Given the description of an element on the screen output the (x, y) to click on. 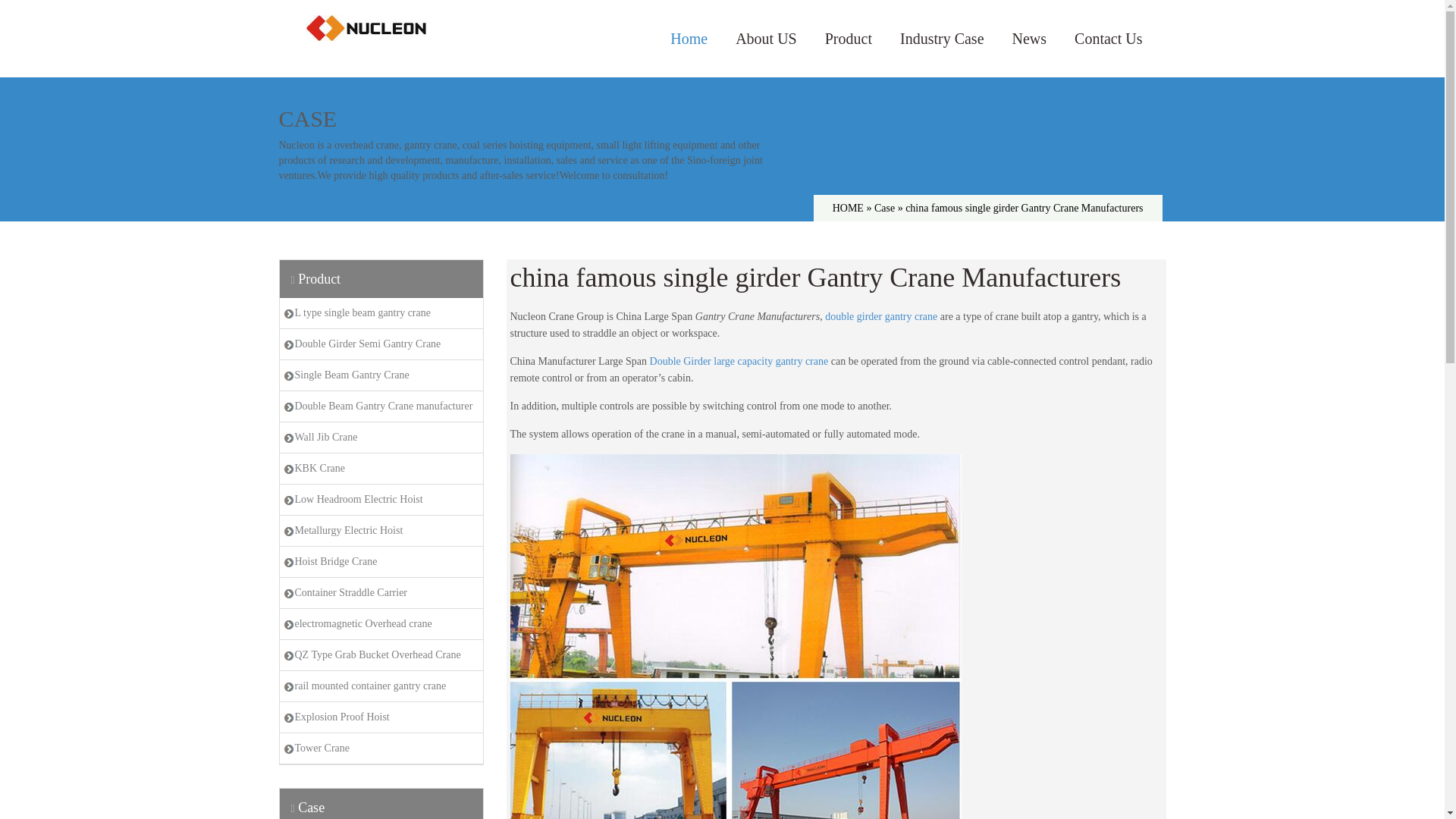
Metallurgy Electric Hoist (380, 530)
QZ Type Grab Bucket Overhead Crane (380, 654)
Product (848, 38)
Single Beam Gantry Crane (380, 375)
About US (765, 38)
Explosion Proof Hoist (380, 716)
Low Headroom Electric Hoist (380, 499)
Double Beam Gantry Crane manufacturer (380, 406)
L type single beam gantry crane (380, 313)
Industry Case (941, 38)
